Given the description of an element on the screen output the (x, y) to click on. 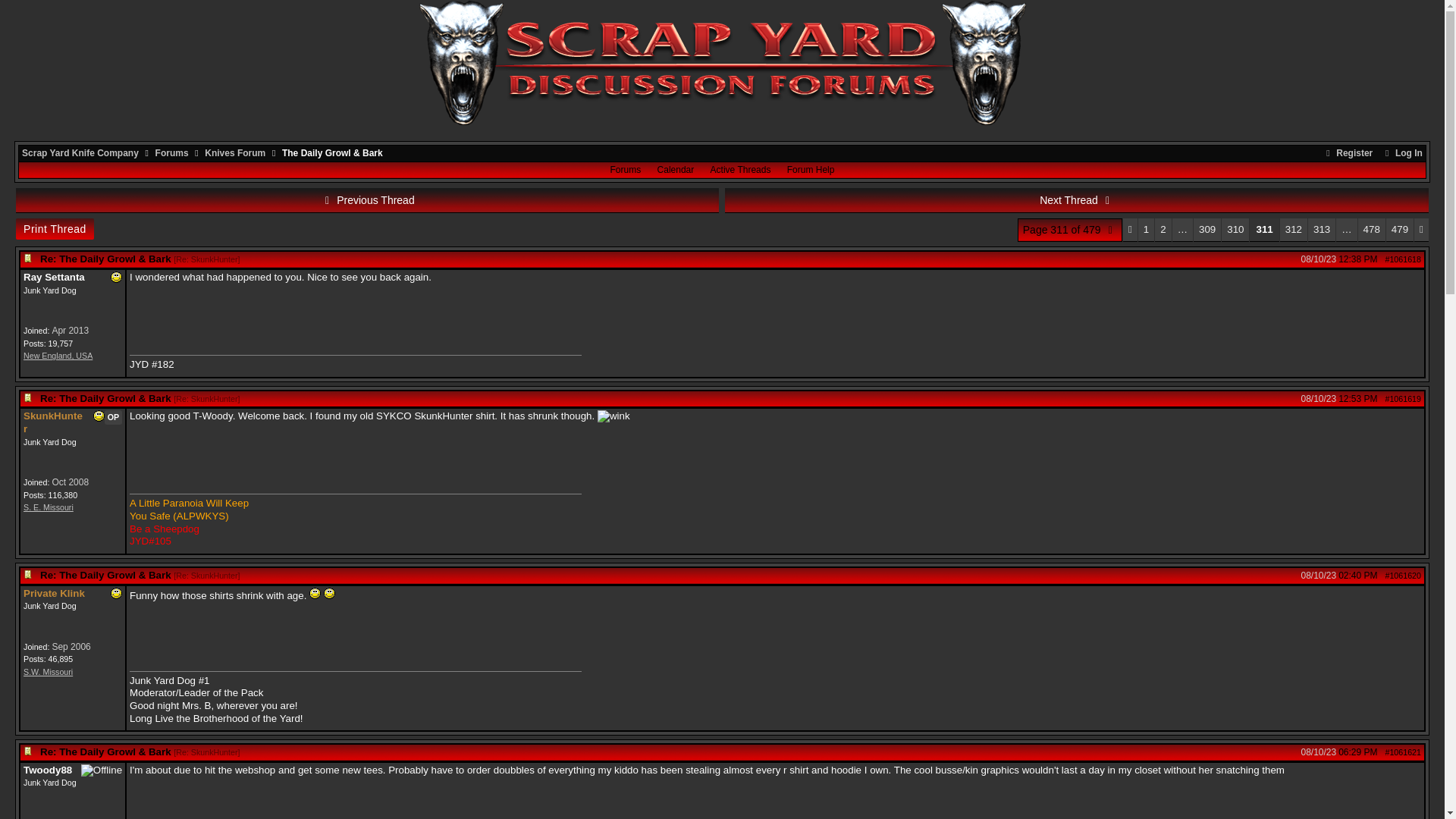
Go to page... (1069, 229)
New England, USA (58, 355)
Forums (172, 153)
Scrap Yard Knife Company (79, 153)
Re: SkunkHunter (206, 258)
S. E. Missouri (48, 506)
Go to page 313 (1321, 229)
Re: SkunkHunter (206, 398)
Register (1347, 153)
Log In (1401, 153)
